Given the description of an element on the screen output the (x, y) to click on. 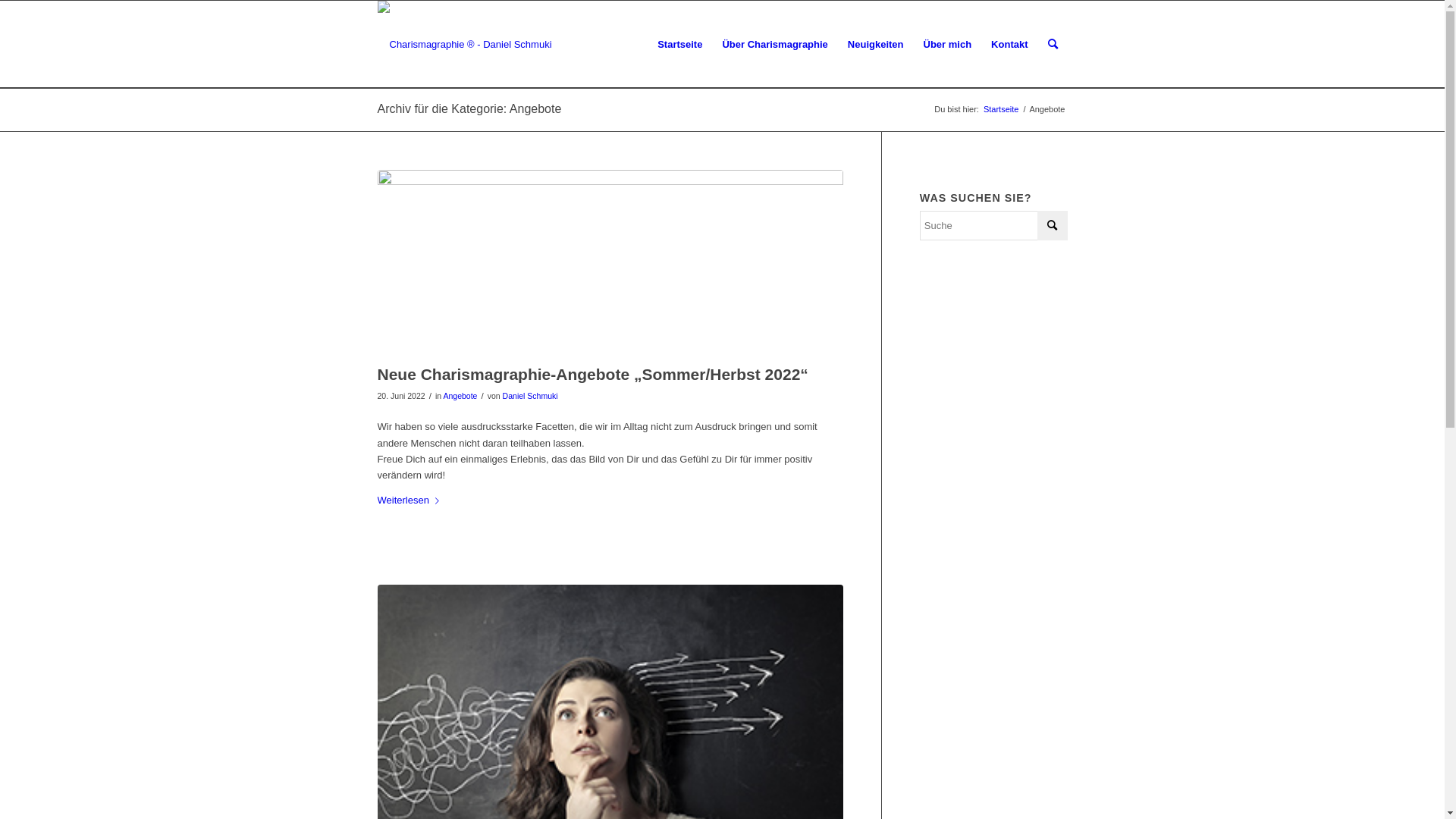
Neuigkeiten Element type: text (875, 43)
Daniel Schmuki Element type: text (530, 395)
DSC_1594 Element type: hover (610, 262)
Startseite Element type: text (679, 43)
Angebote Element type: text (459, 395)
Kontakt Element type: text (1009, 43)
Startseite Element type: text (1000, 109)
Weiterlesen Element type: text (411, 500)
